Given the description of an element on the screen output the (x, y) to click on. 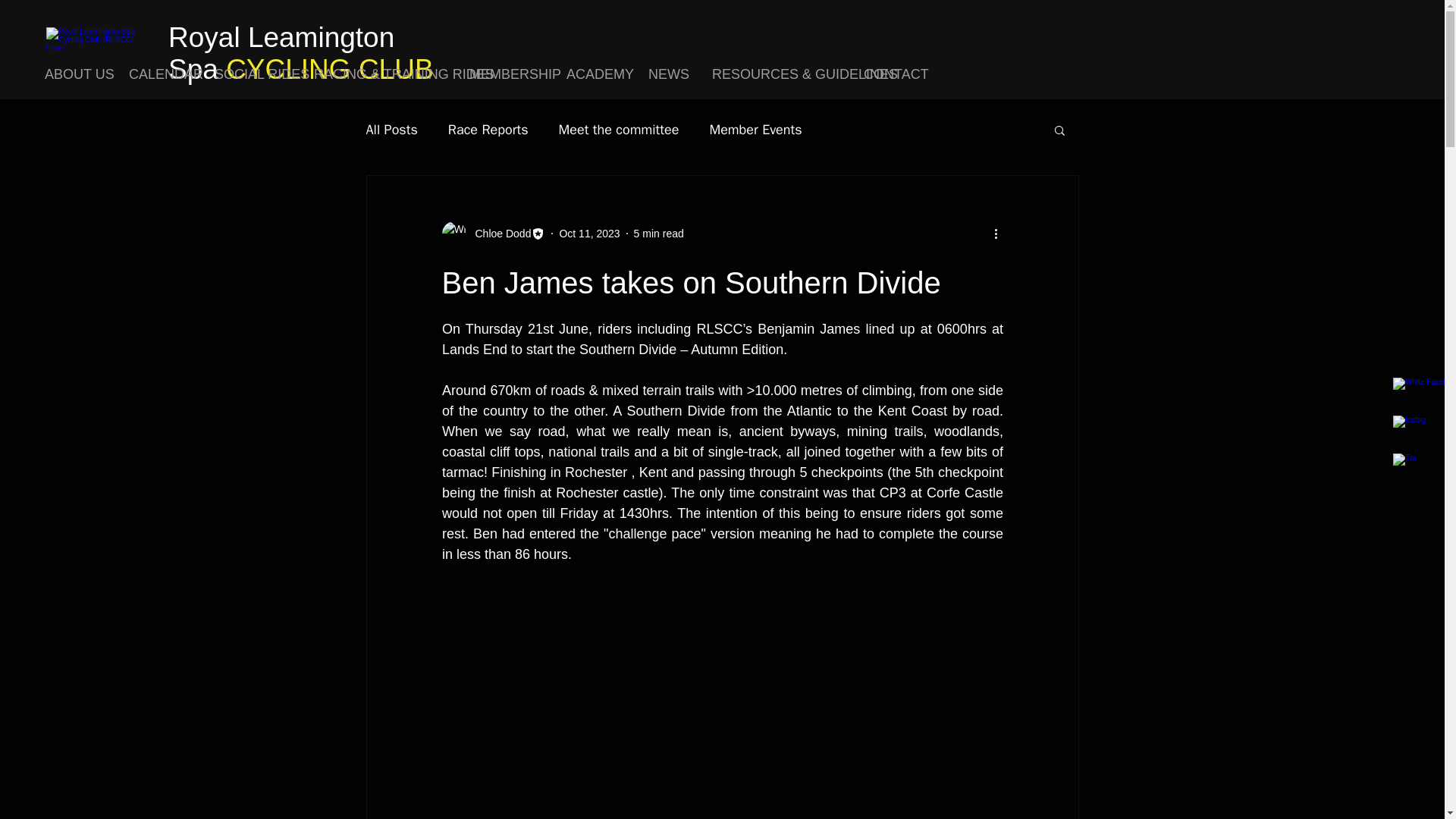
Chloe Dodd (498, 233)
ABOUT US (75, 74)
CONTACT (891, 74)
SOCIAL RIDES (252, 74)
NEWS (668, 74)
MEMBERSHIP (506, 74)
5 min read (658, 233)
CALENDAR (160, 74)
Royal Leamington Spa CYCLING CLUB (300, 53)
Oct 11, 2023 (589, 233)
ACADEMY (595, 74)
